Given the description of an element on the screen output the (x, y) to click on. 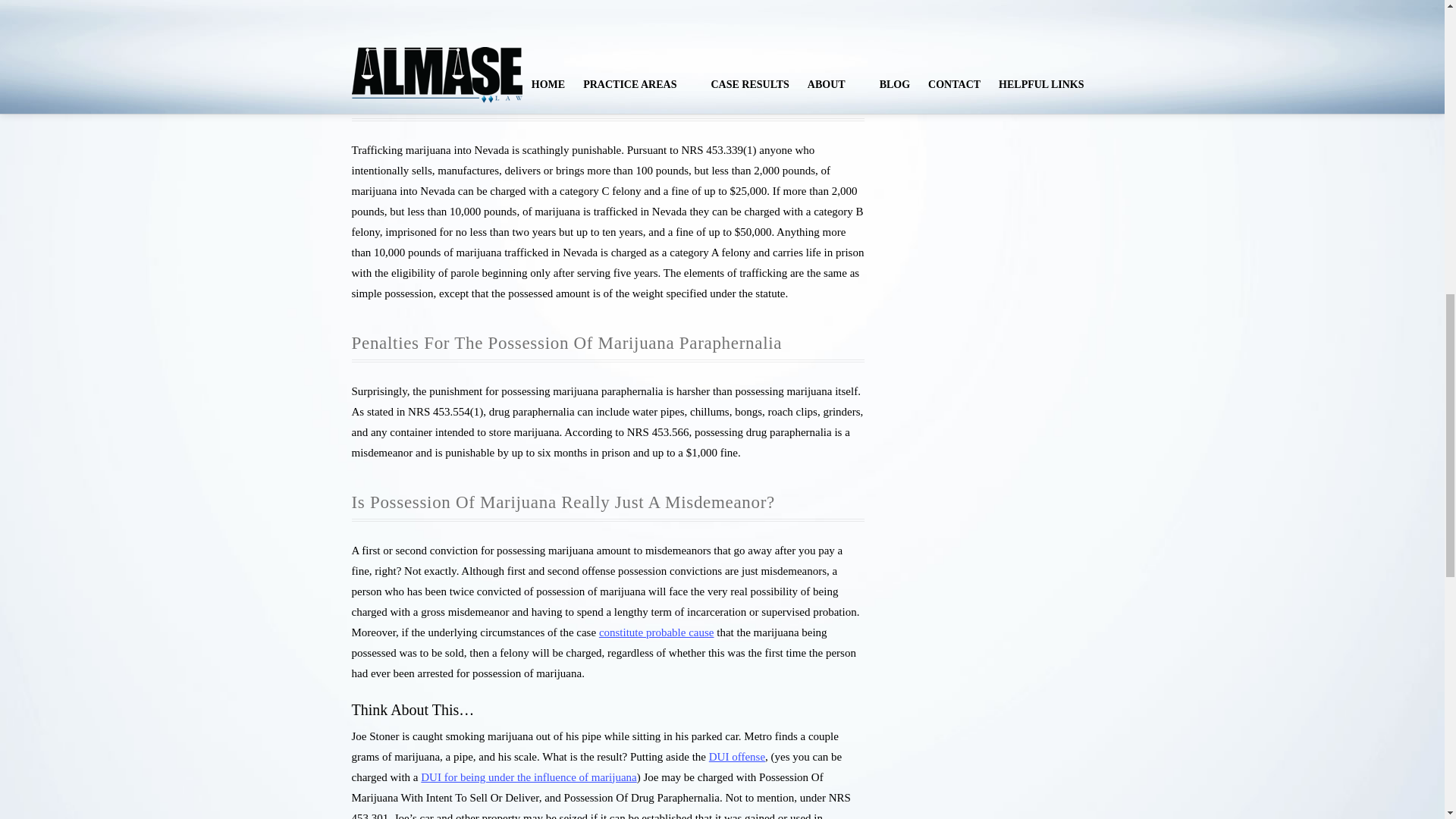
constitute probable cause (656, 632)
DUI offense (737, 756)
DUI for being under the influence of marijuana (528, 776)
